Given the description of an element on the screen output the (x, y) to click on. 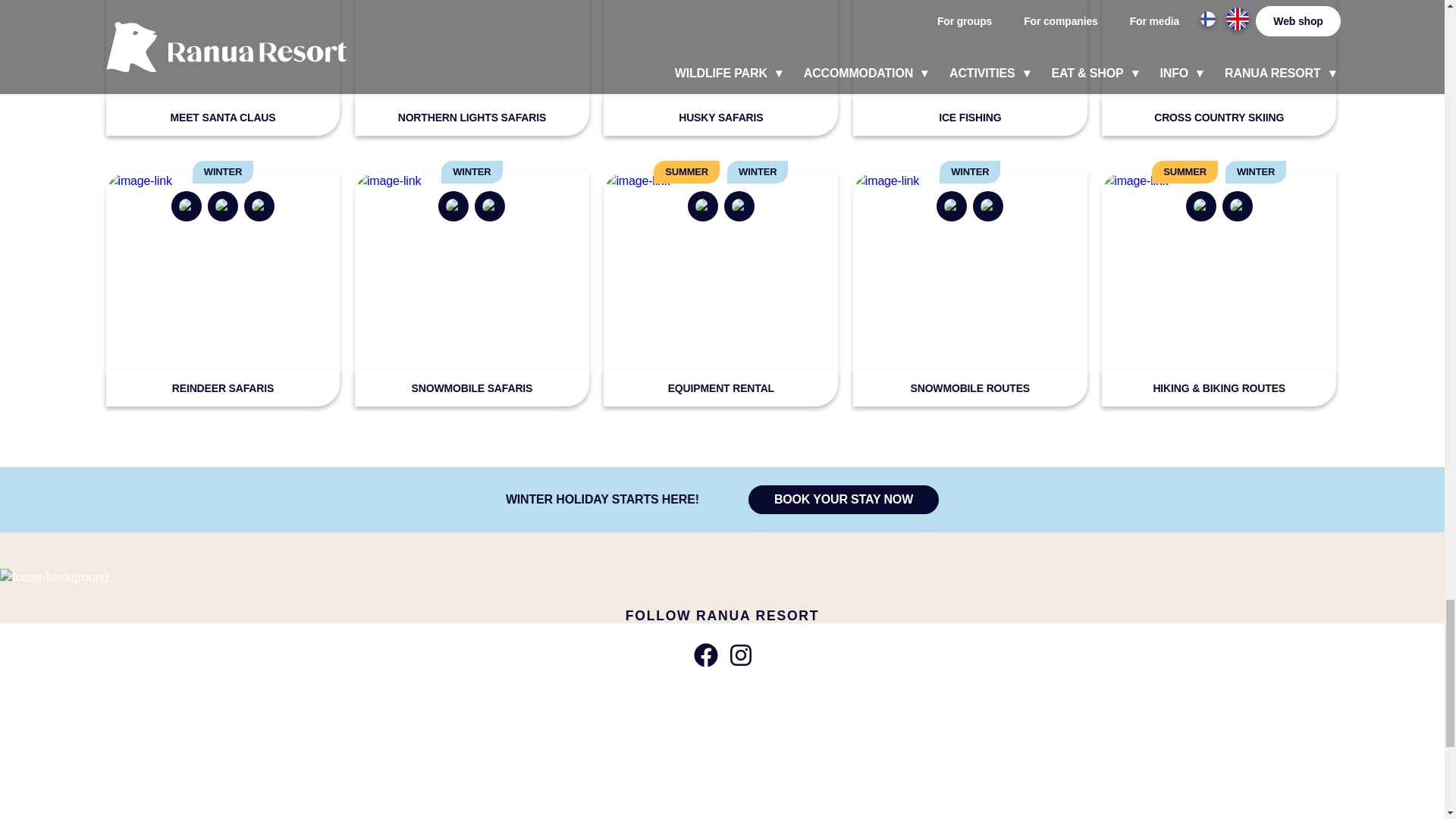
For kids (223, 205)
For adults (186, 205)
For under 4 yrs old (259, 205)
